Given the description of an element on the screen output the (x, y) to click on. 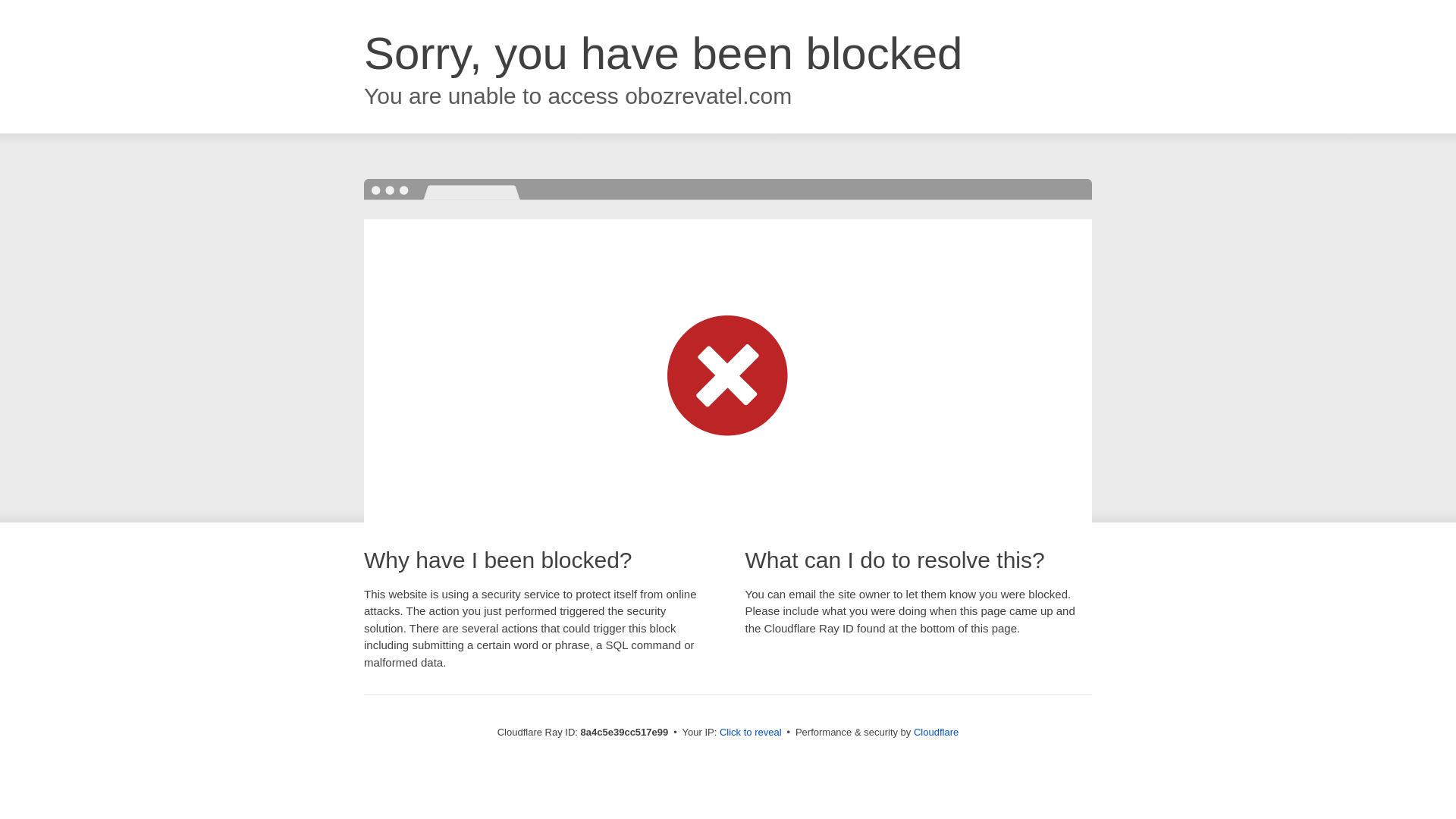
Click to reveal (750, 732)
Cloudflare (936, 731)
